Given the description of an element on the screen output the (x, y) to click on. 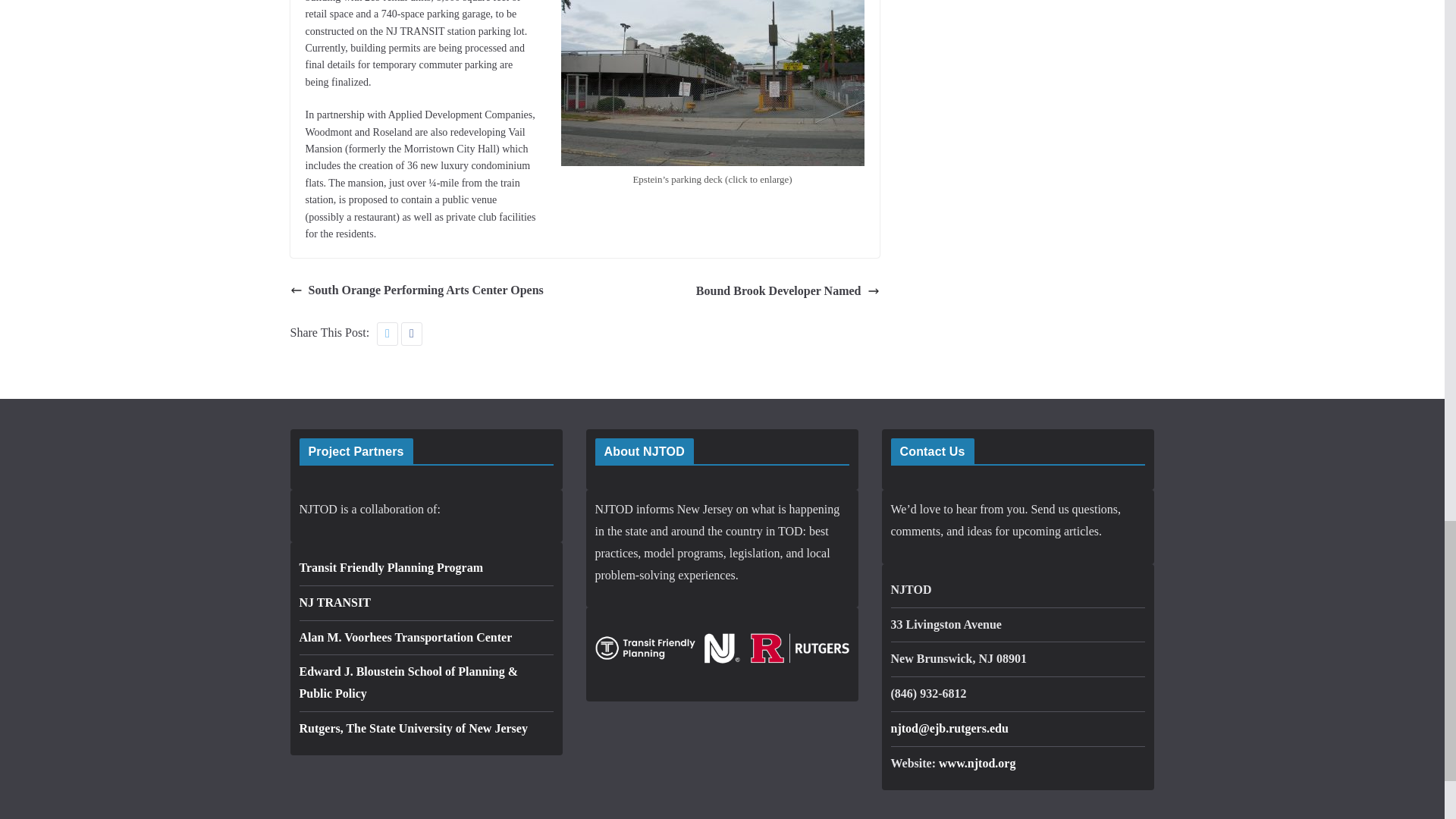
Bound Brook Developer Named (787, 291)
South Orange Performing Arts Center Opens (416, 290)
